Given the description of an element on the screen output the (x, y) to click on. 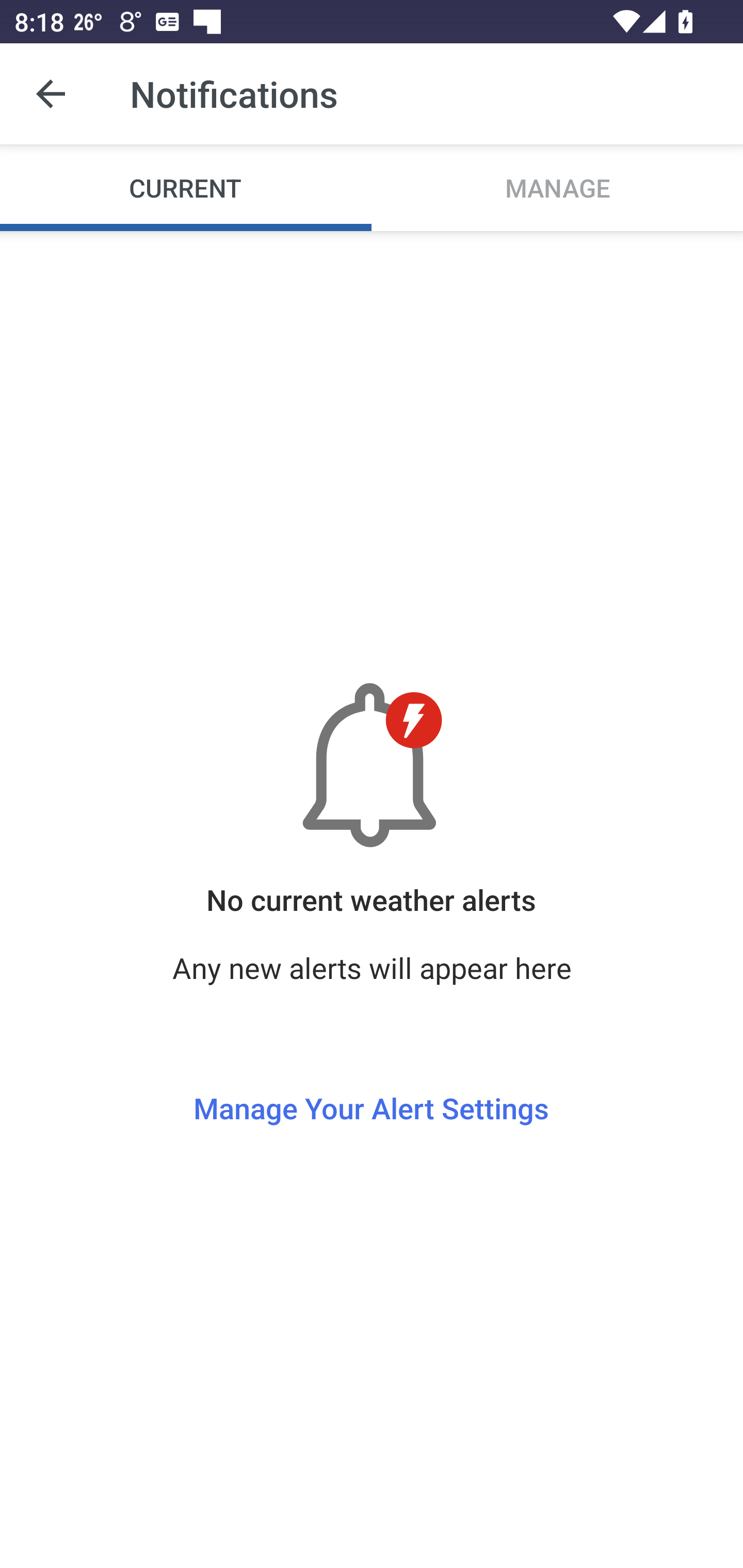
Navigate up (50, 93)
Manage Tab MANAGE (557, 187)
Manage Your Alert Settings (371, 1071)
